Given the description of an element on the screen output the (x, y) to click on. 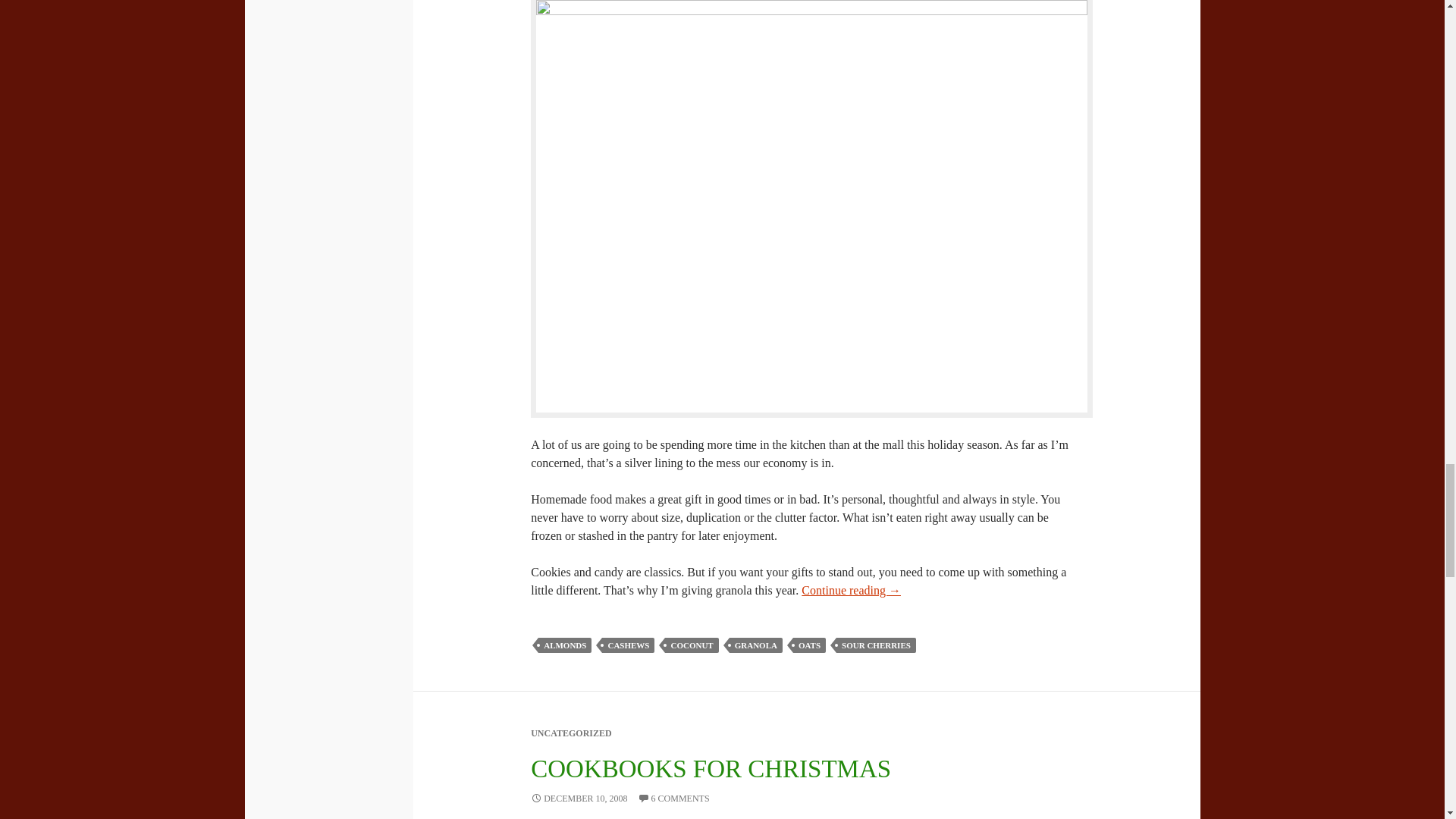
CASHEWS (627, 645)
ALMONDS (564, 645)
COCONUT (691, 645)
SOUR CHERRIES (875, 645)
GRANOLA (756, 645)
OATS (809, 645)
